Given the description of an element on the screen output the (x, y) to click on. 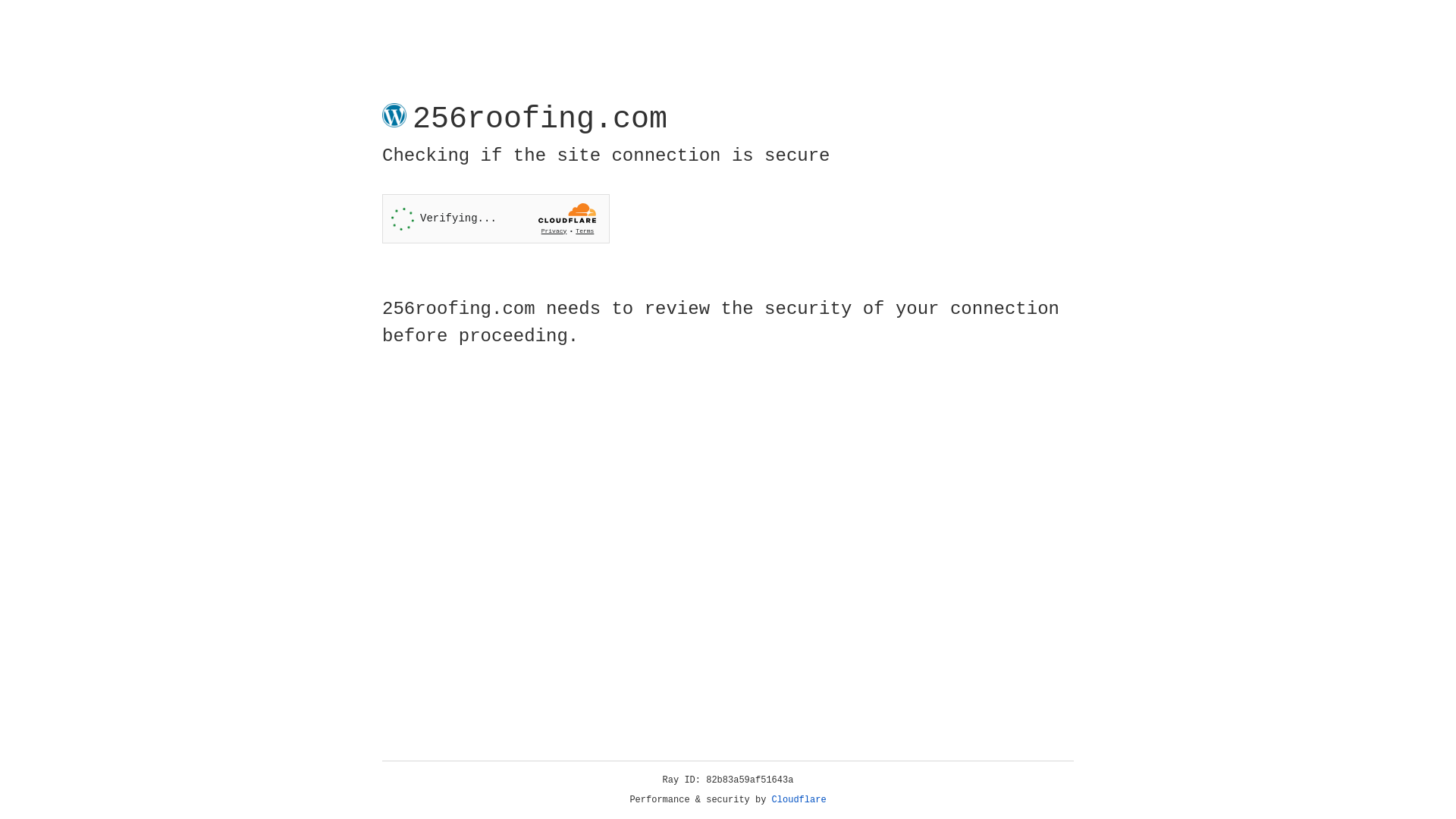
Cloudflare Element type: text (798, 799)
Widget containing a Cloudflare security challenge Element type: hover (495, 218)
